Given the description of an element on the screen output the (x, y) to click on. 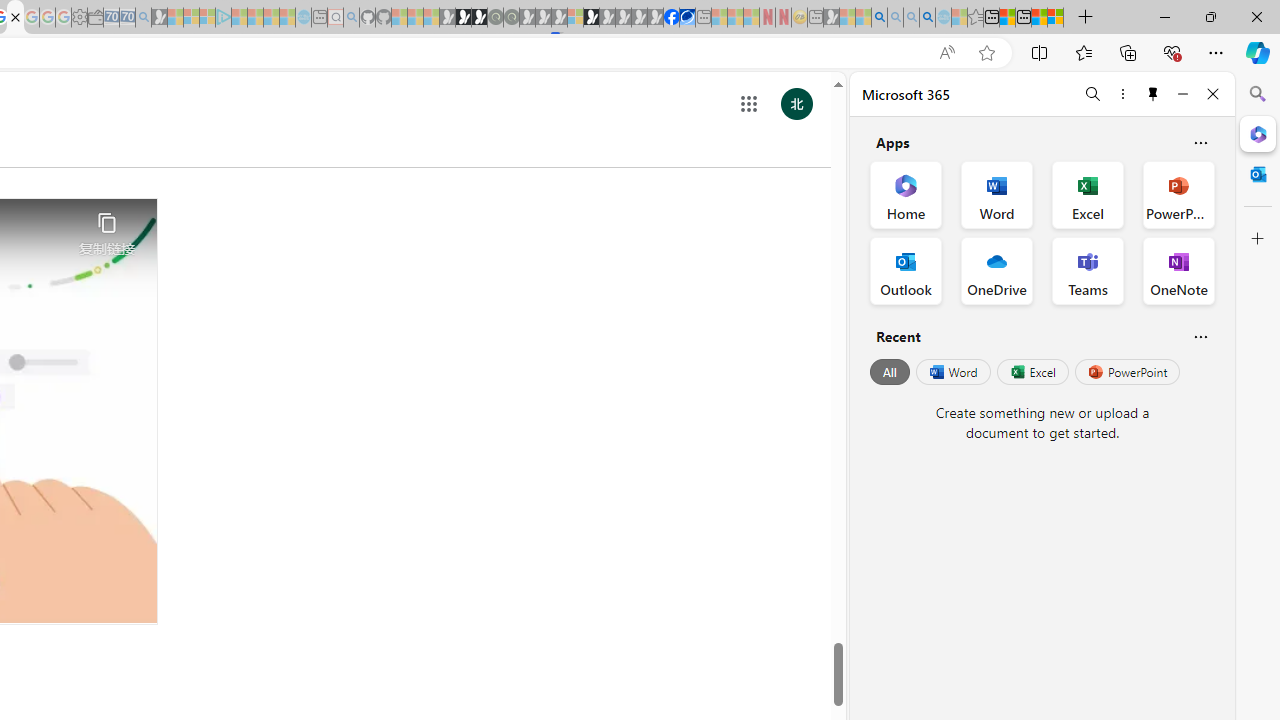
Aberdeen, Hong Kong SAR weather forecast | Microsoft Weather (1007, 17)
OneDrive Office App (996, 270)
